Given the description of an element on the screen output the (x, y) to click on. 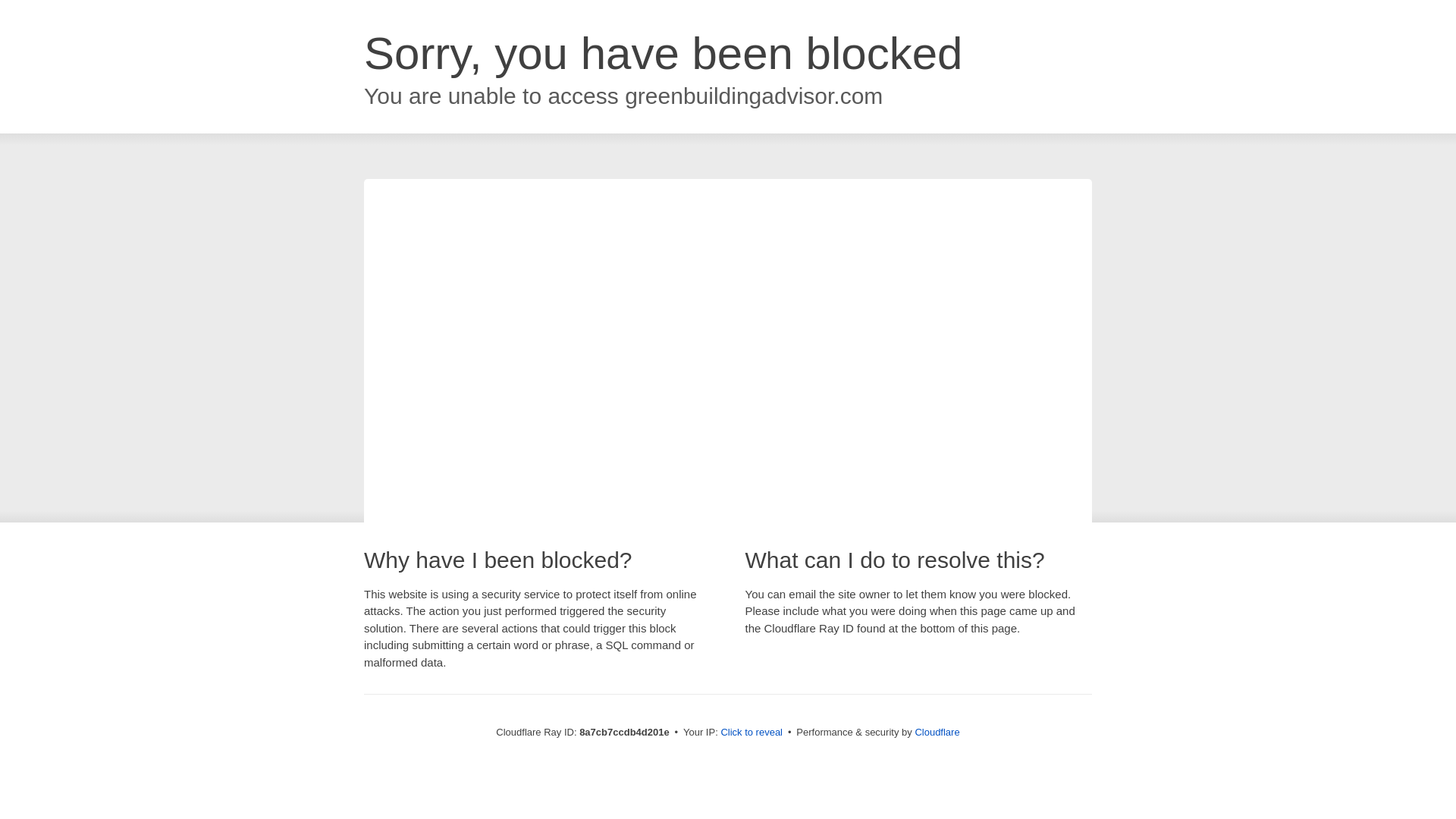
Click to reveal (751, 732)
Cloudflare (936, 731)
